Given the description of an element on the screen output the (x, y) to click on. 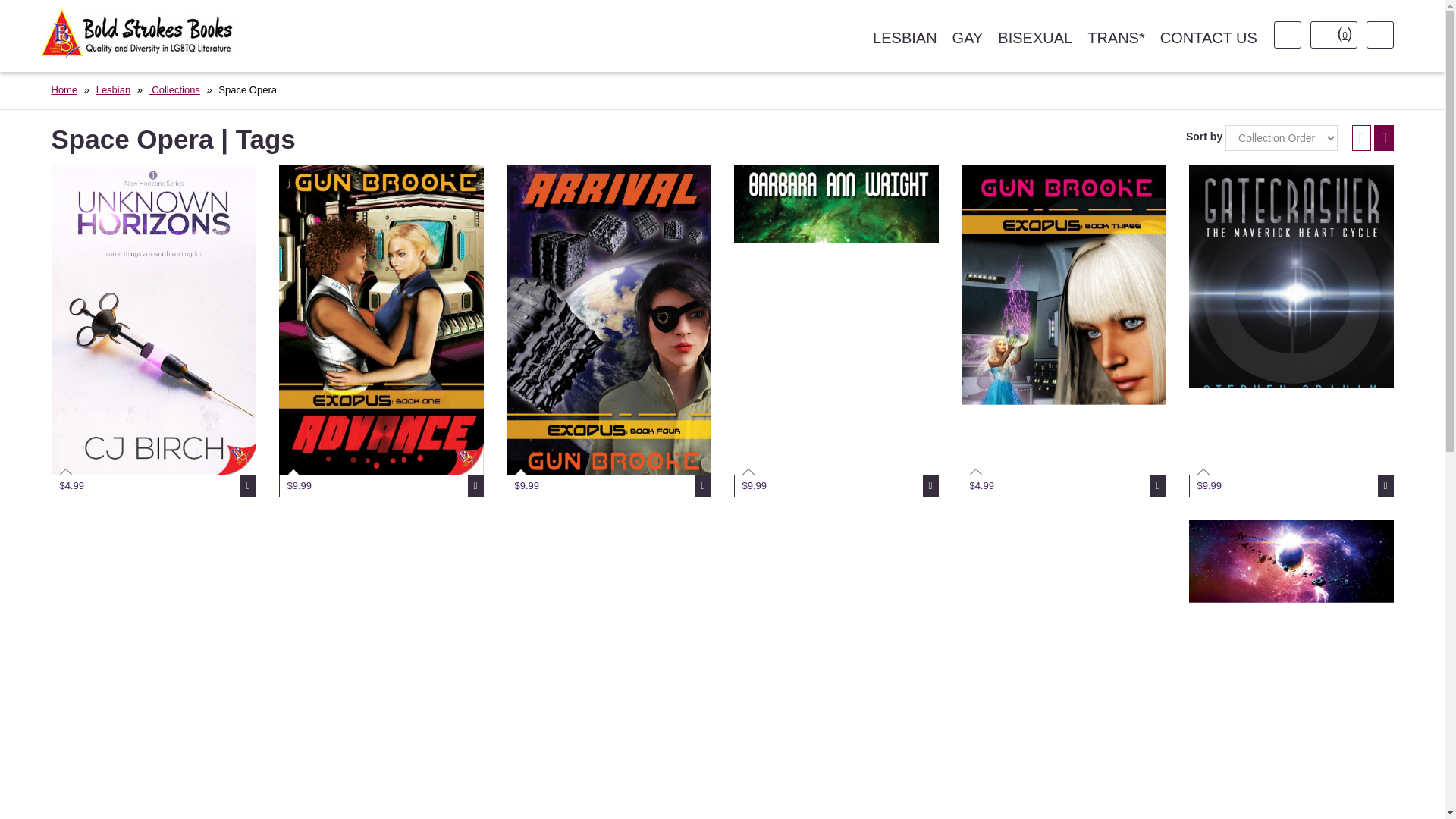
BISEXUAL (1035, 37)
Home (64, 89)
LESBIAN (903, 37)
CONTACT US (1209, 37)
Collections (174, 89)
Lesbian (113, 89)
GAY (967, 37)
